Given the description of an element on the screen output the (x, y) to click on. 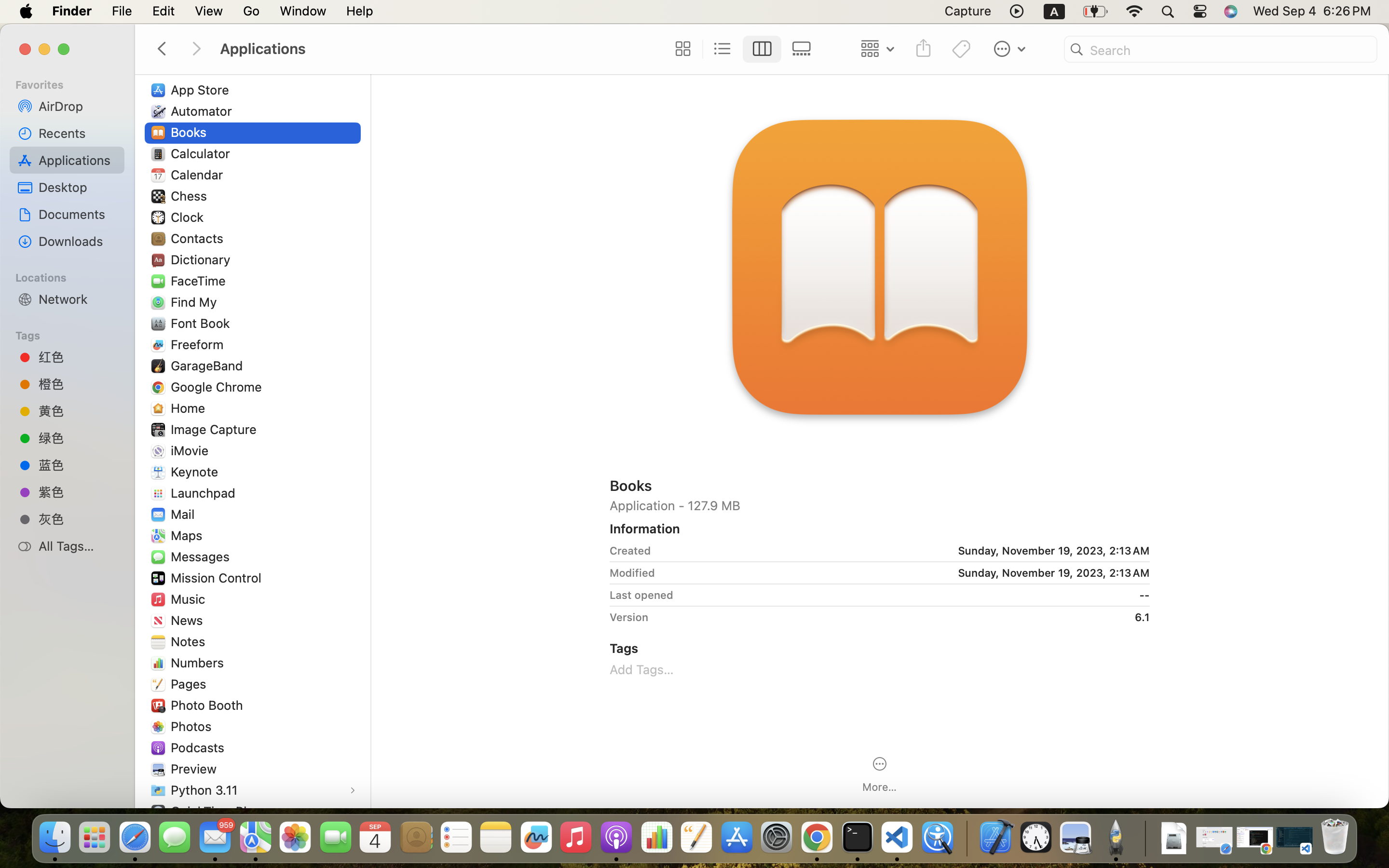
0.0 Element type: AXScrollBar (427, 473)
Image Capture Element type: AXTextField (215, 428)
Books Element type: AXStaticText (879, 484)
Favorites Element type: AXStaticText (72, 83)
Locations Element type: AXStaticText (72, 276)
